Given the description of an element on the screen output the (x, y) to click on. 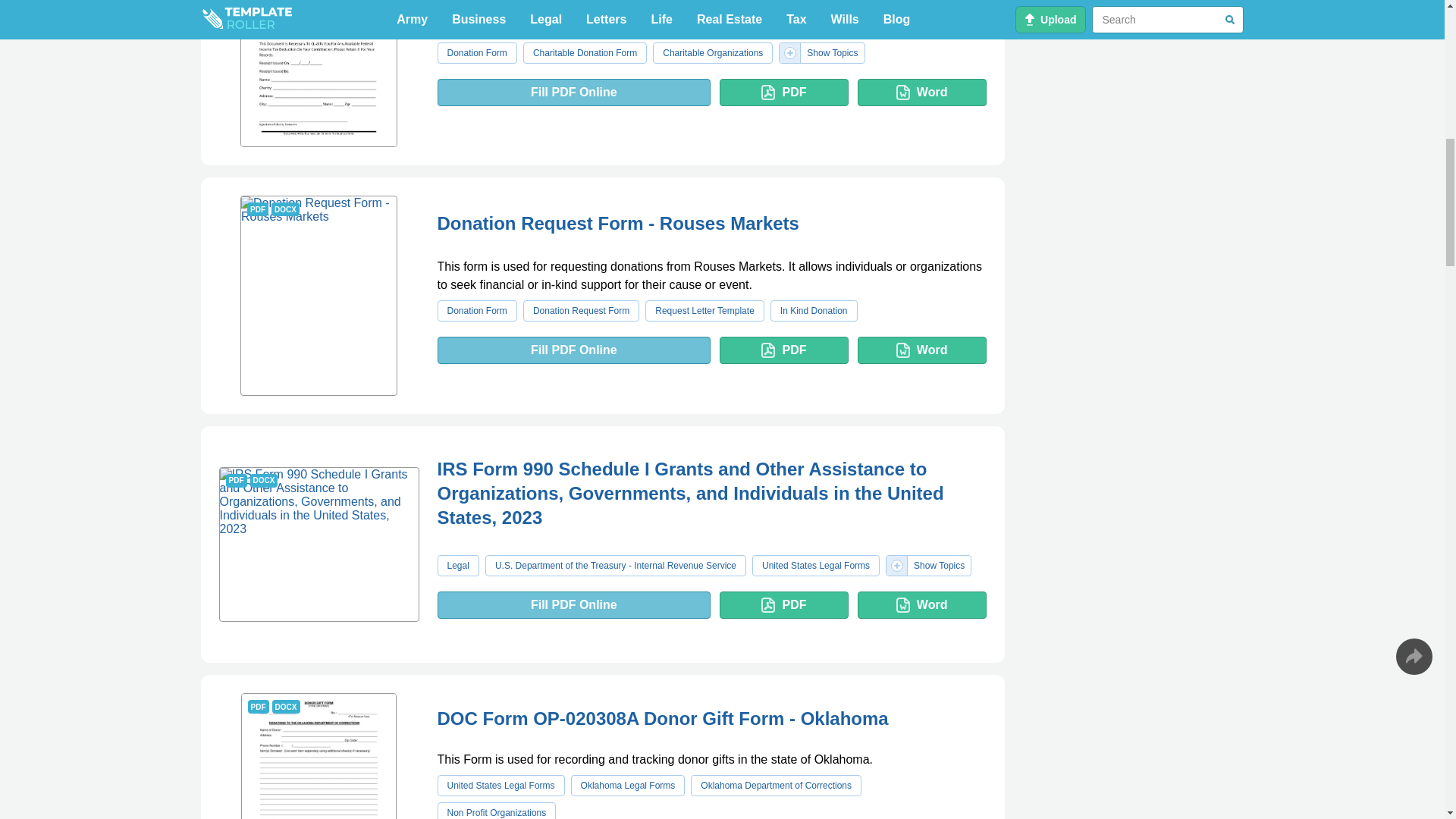
Charitable Donation Form (584, 52)
Charitable Organizations (318, 73)
Donation Form (712, 52)
Show Topics (476, 52)
